Given the description of an element on the screen output the (x, y) to click on. 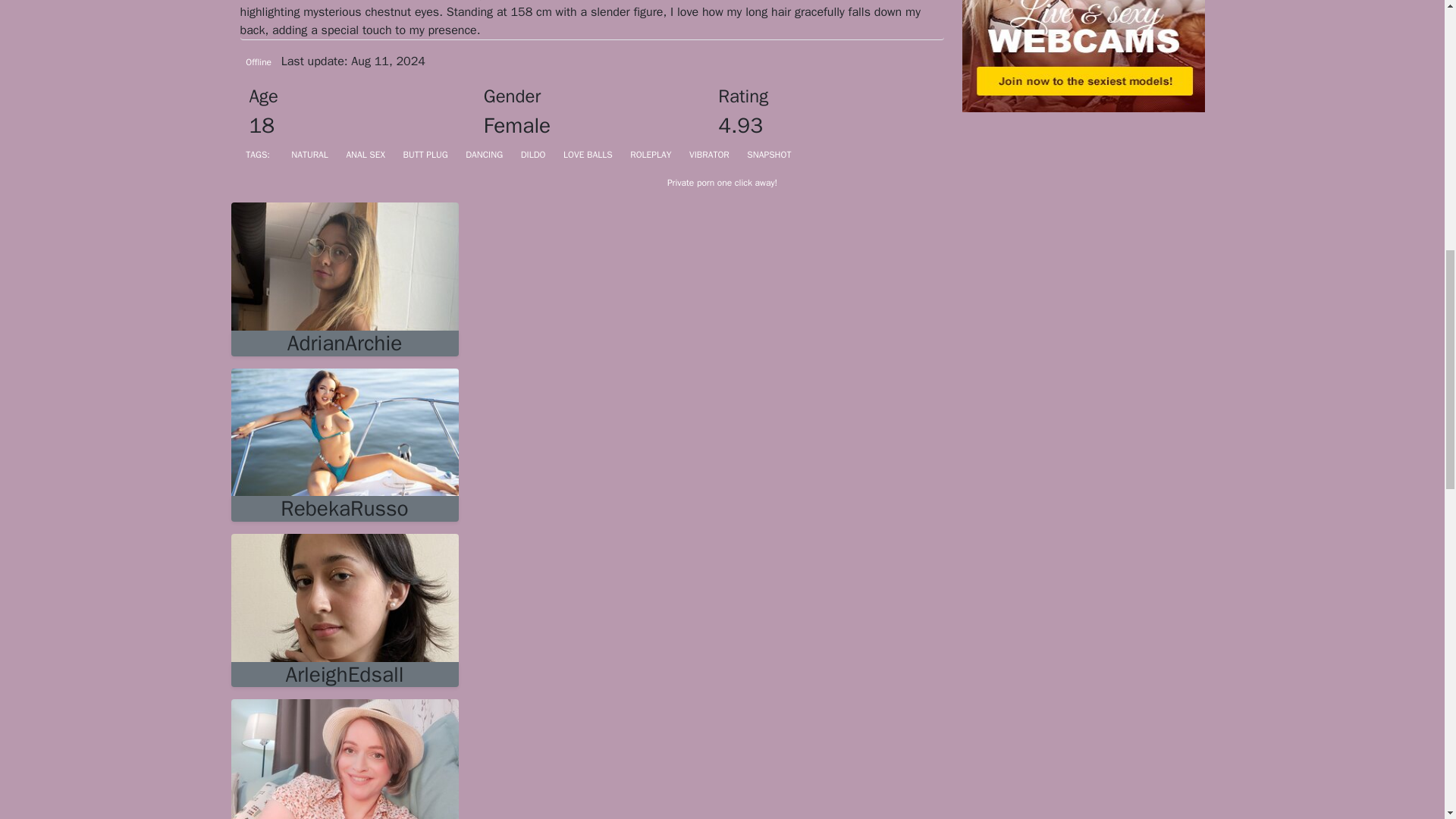
AdrianArchie's Webcam Recorded (344, 343)
RebekaRusso's Webcam Recorded (344, 431)
RebekaRusso's Webcam Recorded (344, 508)
AdrianArchie's Webcam Recorded (344, 265)
RebekaRusso (344, 508)
ArleighEdsall (344, 674)
AdrianArchie (344, 343)
